Given the description of an element on the screen output the (x, y) to click on. 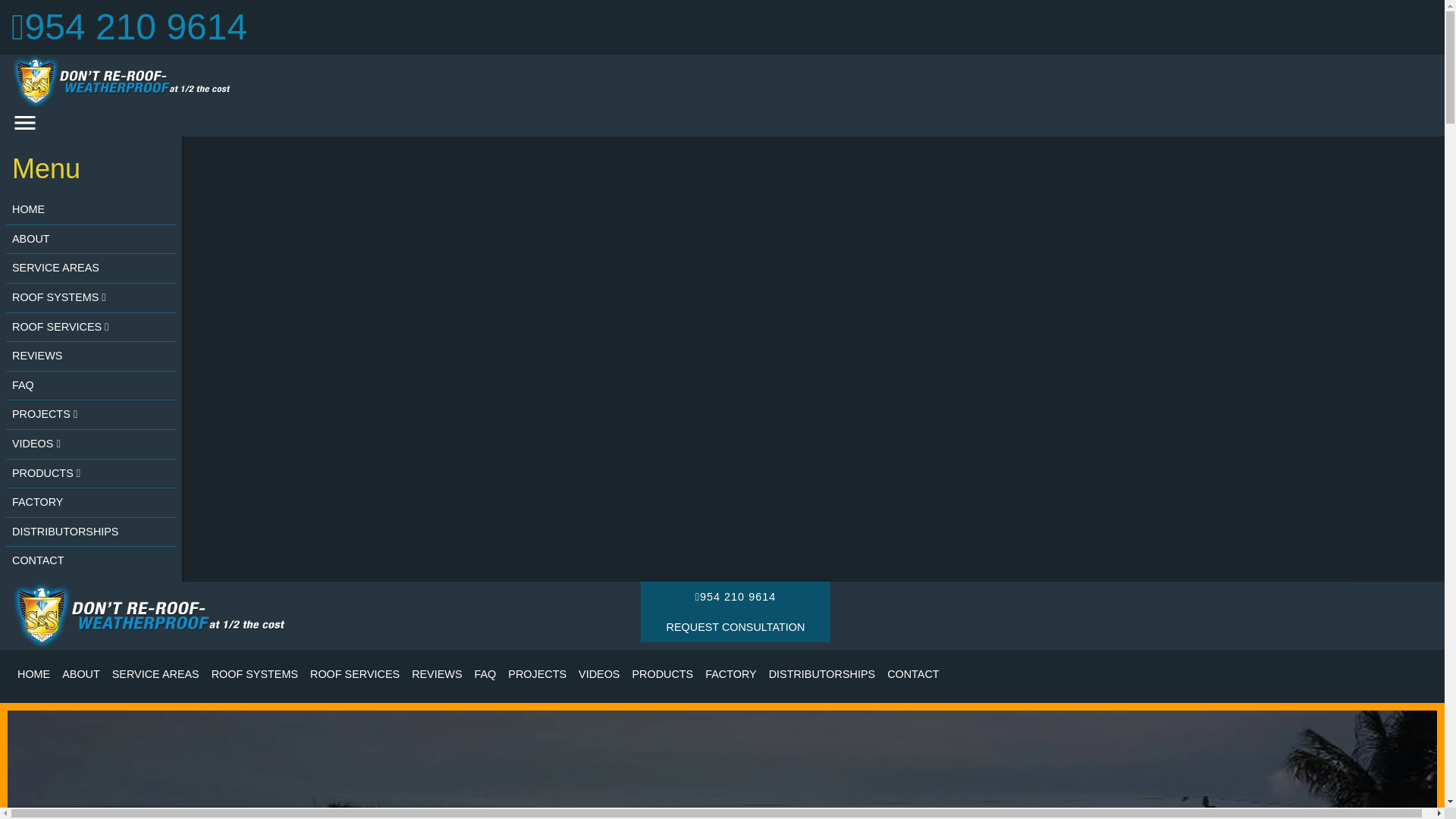
ROOF SYSTEMS (90, 297)
ABOUT (90, 239)
ROOF SERVICES (90, 327)
PROJECTS (90, 414)
HOME (90, 210)
954 210 9614 (129, 26)
SERVICE AREAS (90, 268)
FAQ (90, 386)
REVIEWS (90, 356)
